Given the description of an element on the screen output the (x, y) to click on. 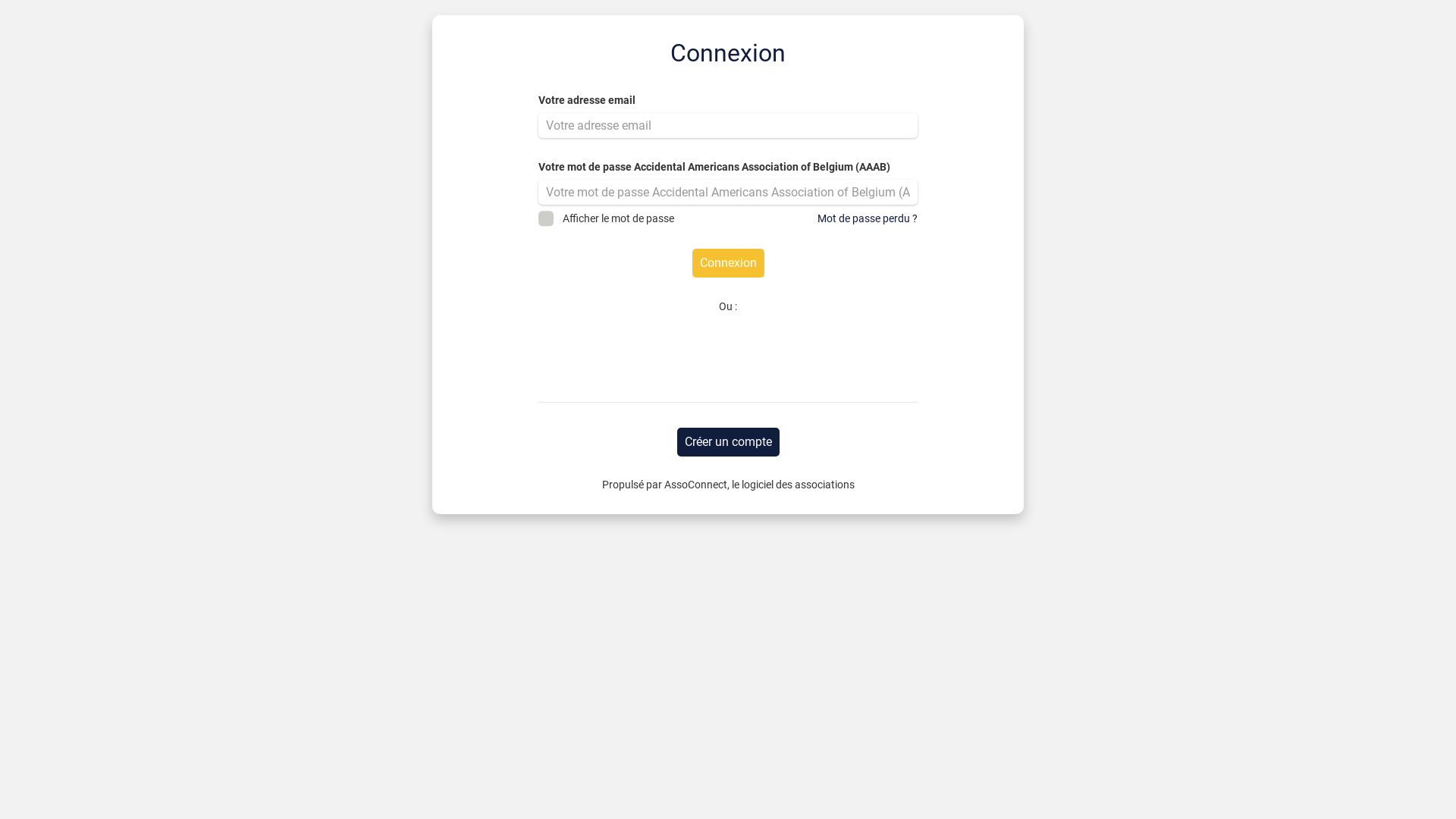
Mot de passe perdu ? Element type: text (867, 218)
Connexion Element type: text (727, 262)
